Given the description of an element on the screen output the (x, y) to click on. 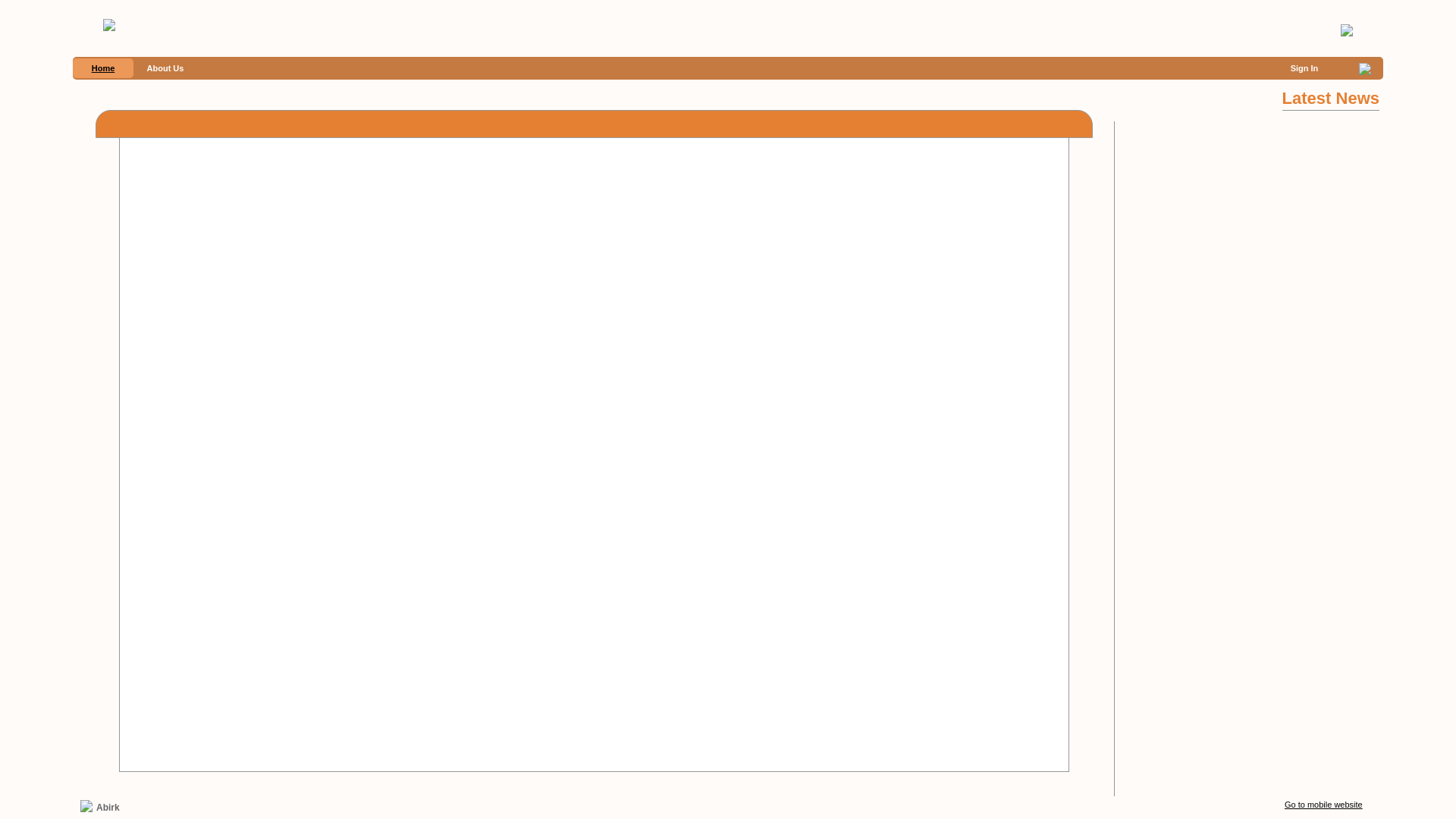
About Us Element type: text (165, 67)
Sign In Element type: text (1304, 68)
0 Element type: text (1364, 68)
Abirk Element type: text (107, 806)
Home Element type: text (103, 67)
